Given the description of an element on the screen output the (x, y) to click on. 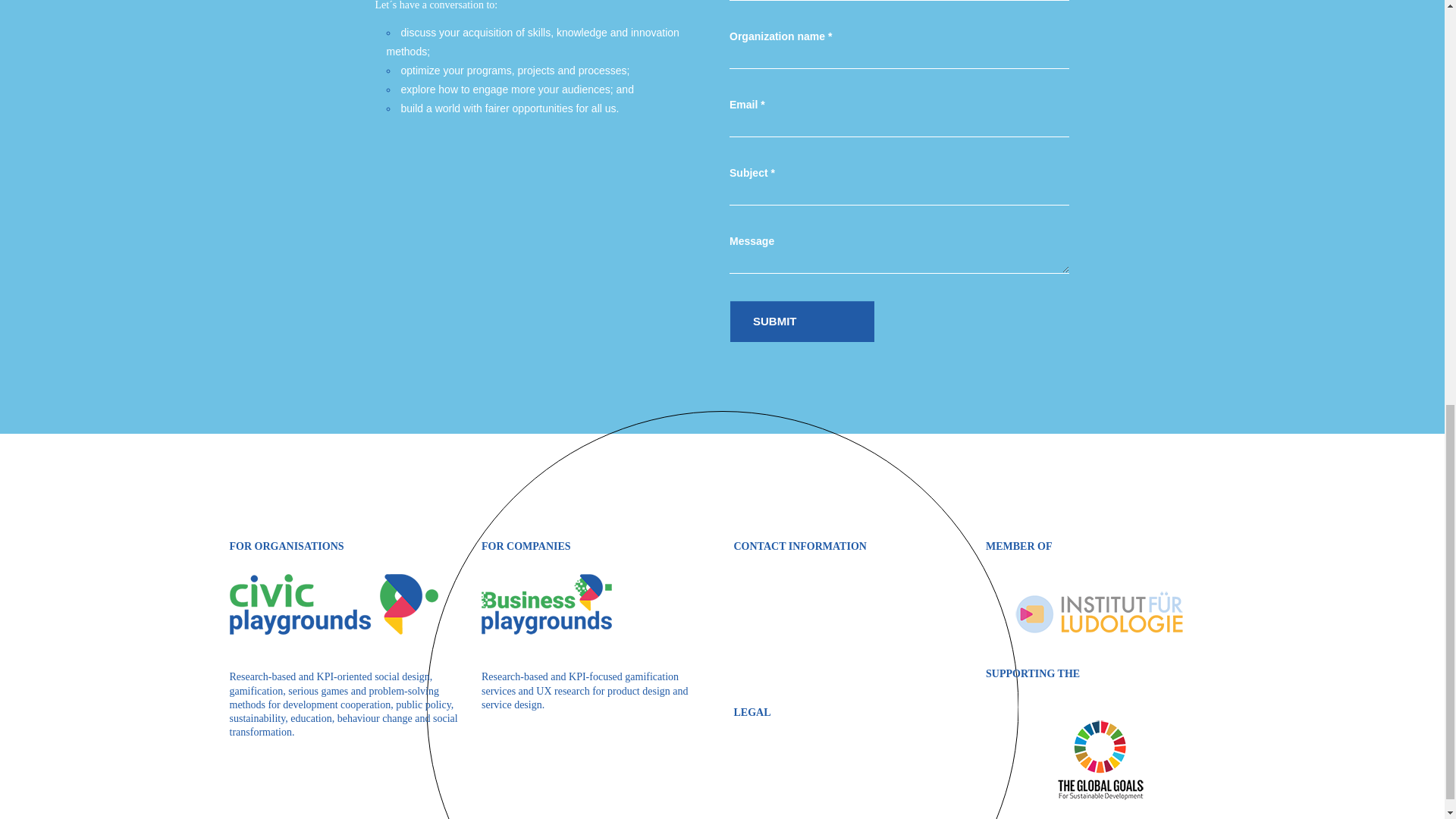
COOKIES (756, 797)
IMPRINT (755, 776)
PRIVACY POLICY (776, 755)
SUBMIT (802, 321)
